Given the description of an element on the screen output the (x, y) to click on. 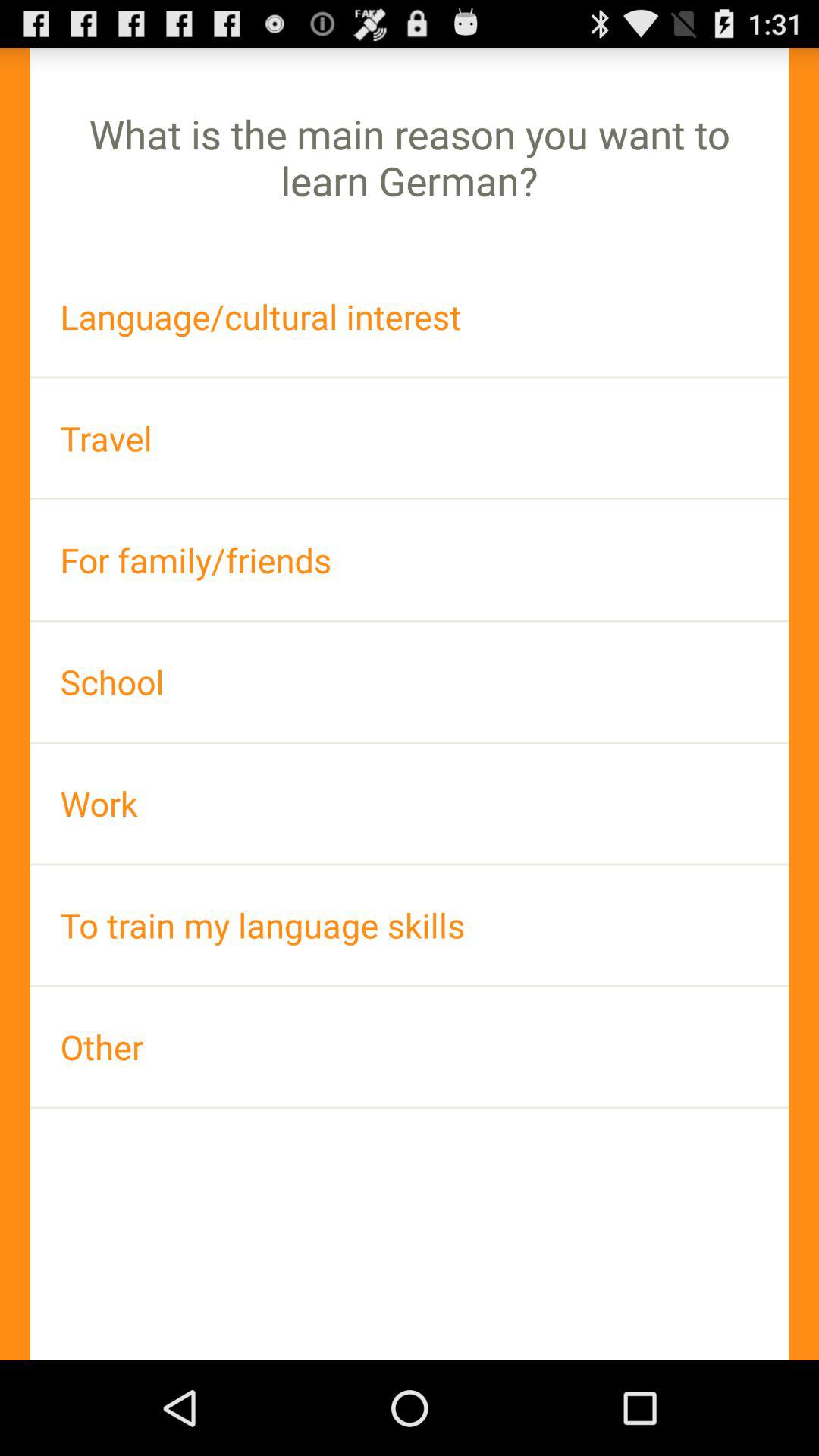
flip to work icon (409, 803)
